Given the description of an element on the screen output the (x, y) to click on. 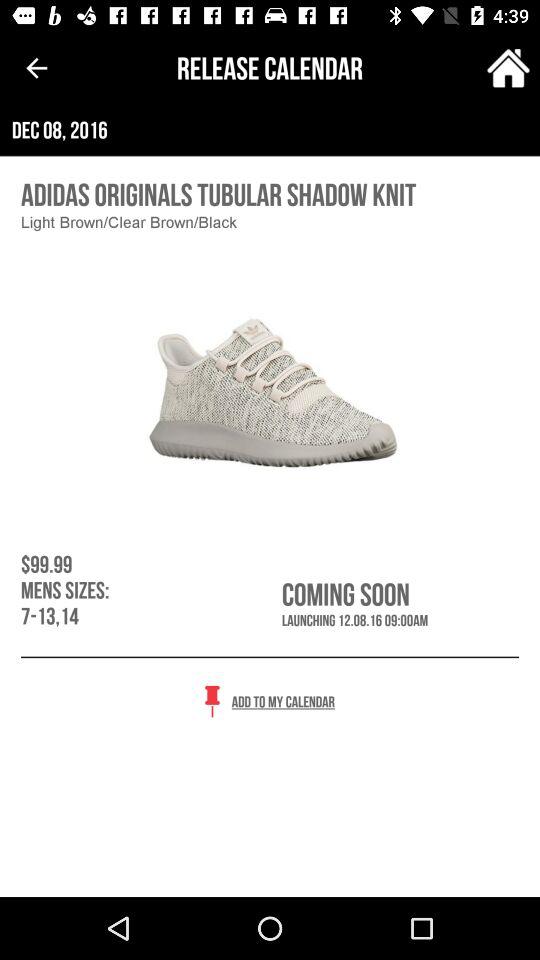
choose the item above dec 08, 2016 icon (36, 68)
